Given the description of an element on the screen output the (x, y) to click on. 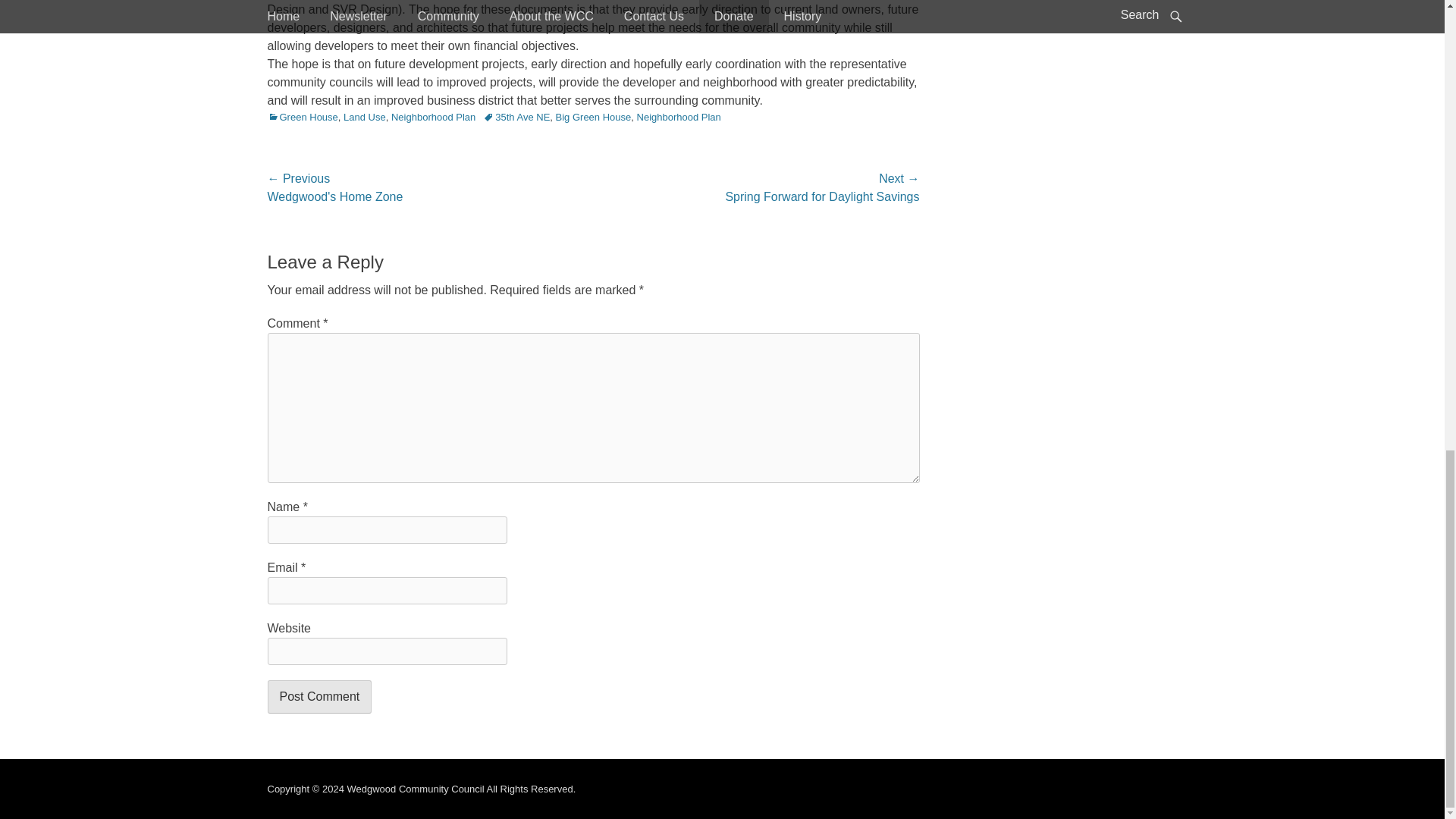
Post Comment (318, 696)
